Given the description of an element on the screen output the (x, y) to click on. 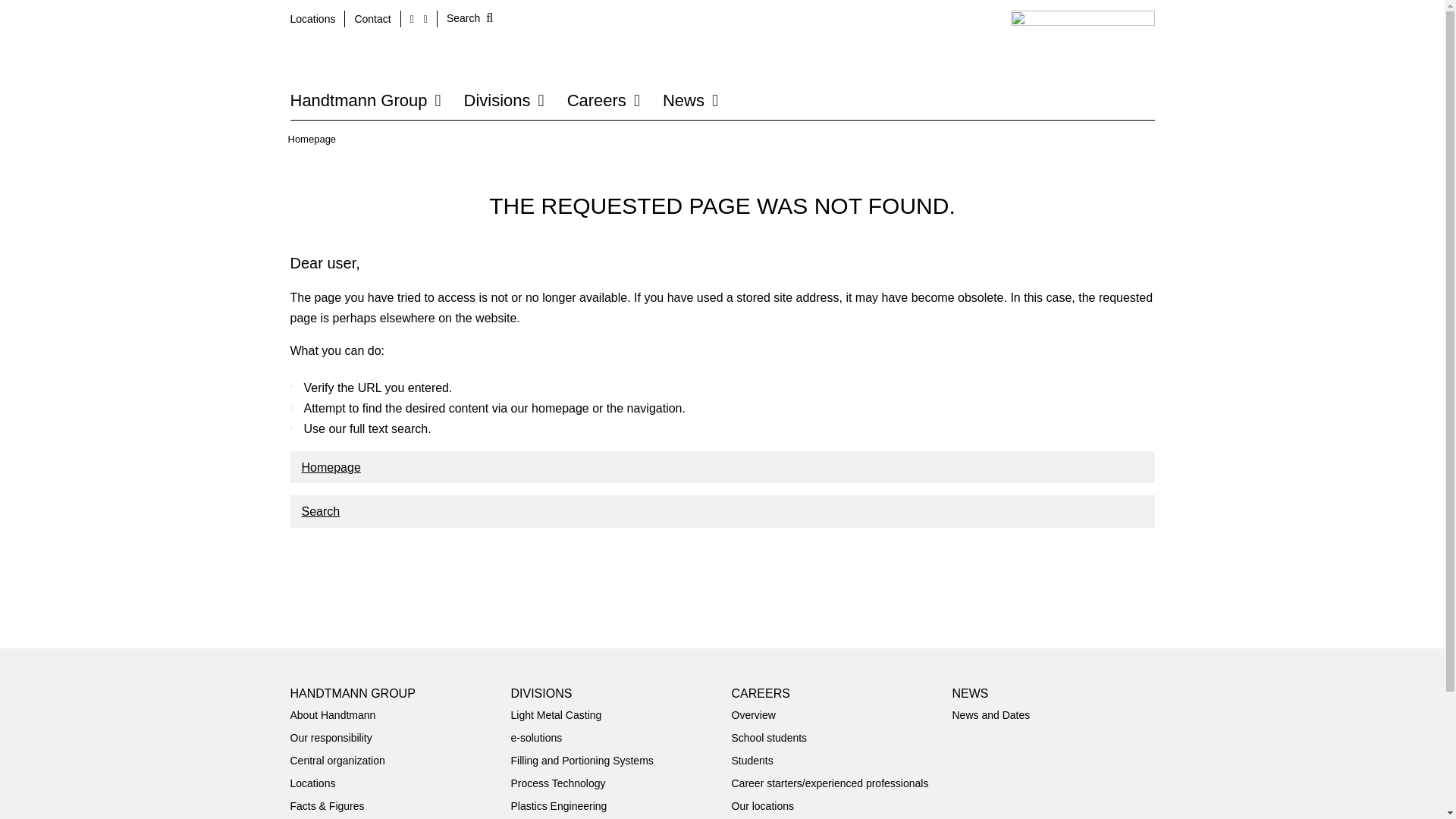
Locations (313, 18)
Contact (372, 18)
Handtmann Group (365, 100)
